Given the description of an element on the screen output the (x, y) to click on. 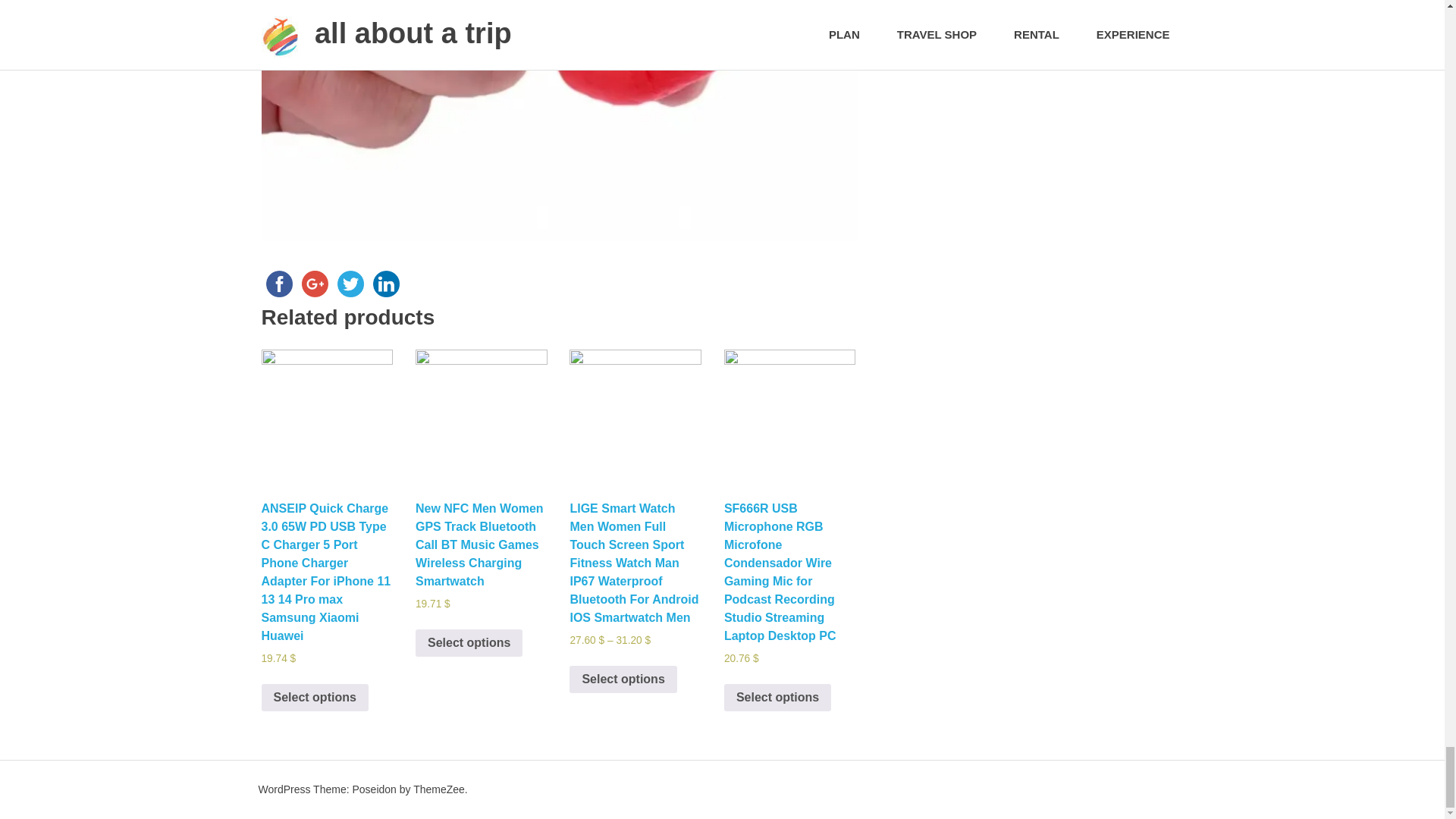
google (315, 284)
linkedin (386, 284)
facebook (278, 284)
twitter (349, 284)
